Given the description of an element on the screen output the (x, y) to click on. 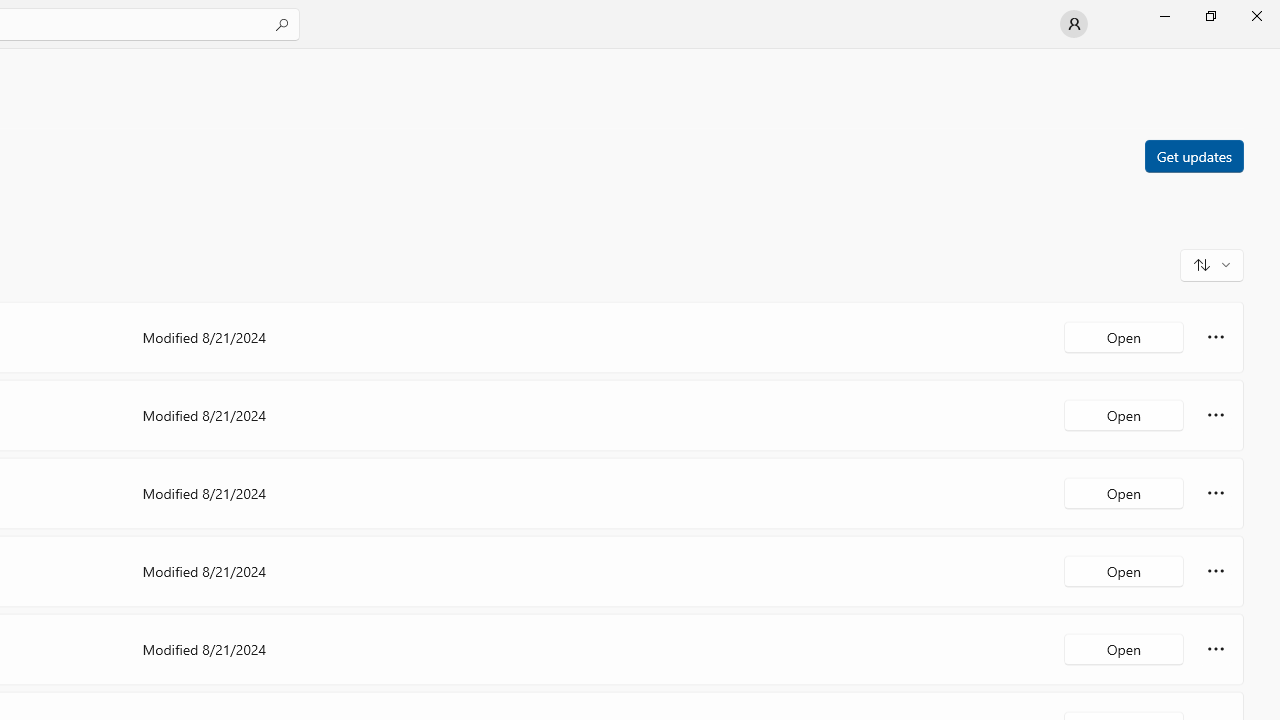
Sort and filter (1212, 263)
Open (1123, 648)
Restore Microsoft Store (1210, 15)
Get updates (1193, 155)
Close Microsoft Store (1256, 15)
Minimize Microsoft Store (1164, 15)
More options (1215, 648)
User profile (1073, 24)
